Given the description of an element on the screen output the (x, y) to click on. 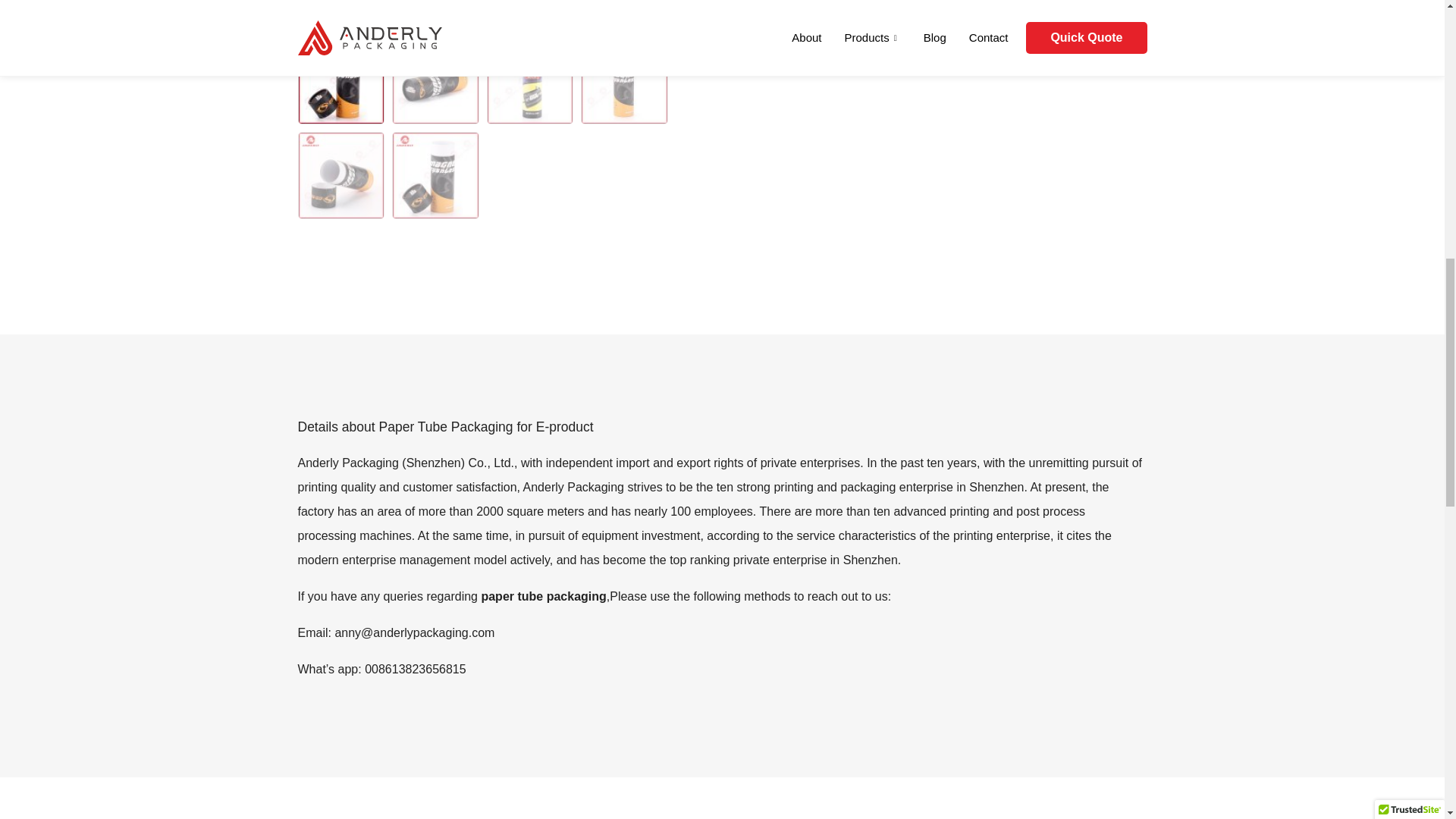
Custom Printing Box (482, 14)
Paper Mailing Tube (850, 14)
